Given the description of an element on the screen output the (x, y) to click on. 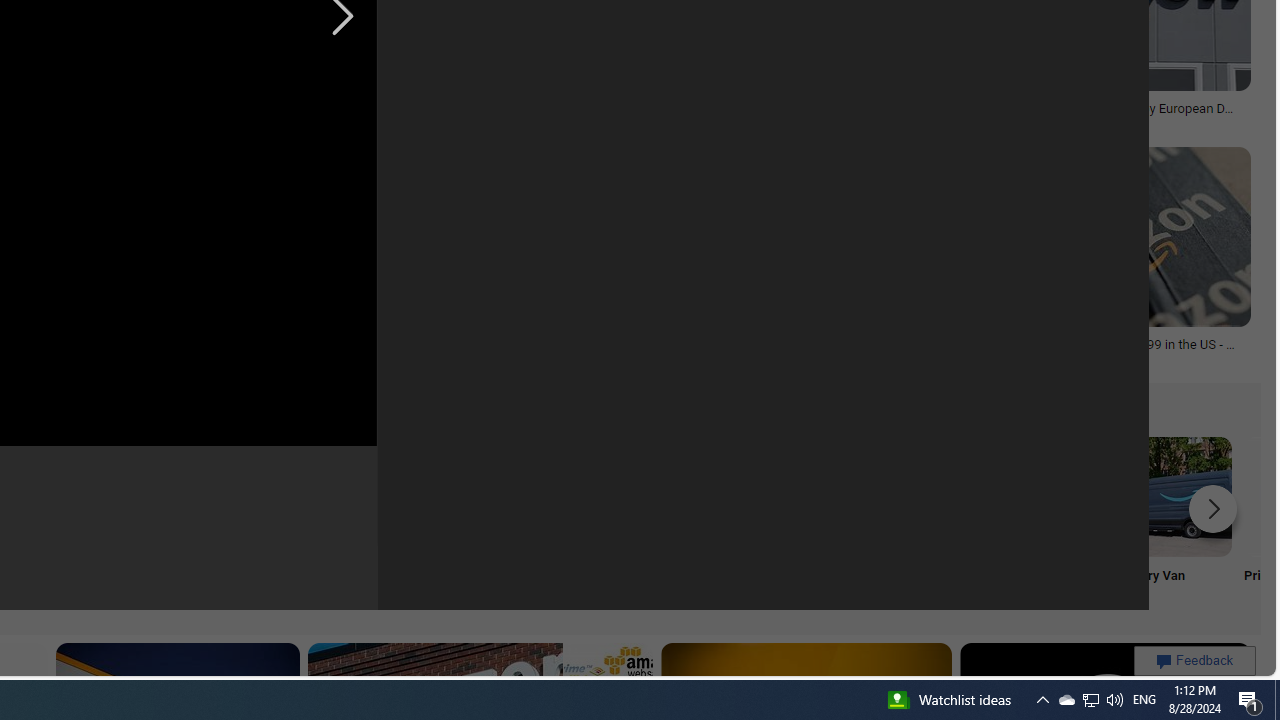
The Verge (507, 121)
PC World (320, 123)
Image result for amazon (1098, 236)
aiophotoz.com (829, 123)
Sale Items (775, 521)
Feedback (1194, 660)
olhardigital.com.br (100, 358)
Mini TV (116, 521)
Amazon Official Website (907, 496)
